Given the description of an element on the screen output the (x, y) to click on. 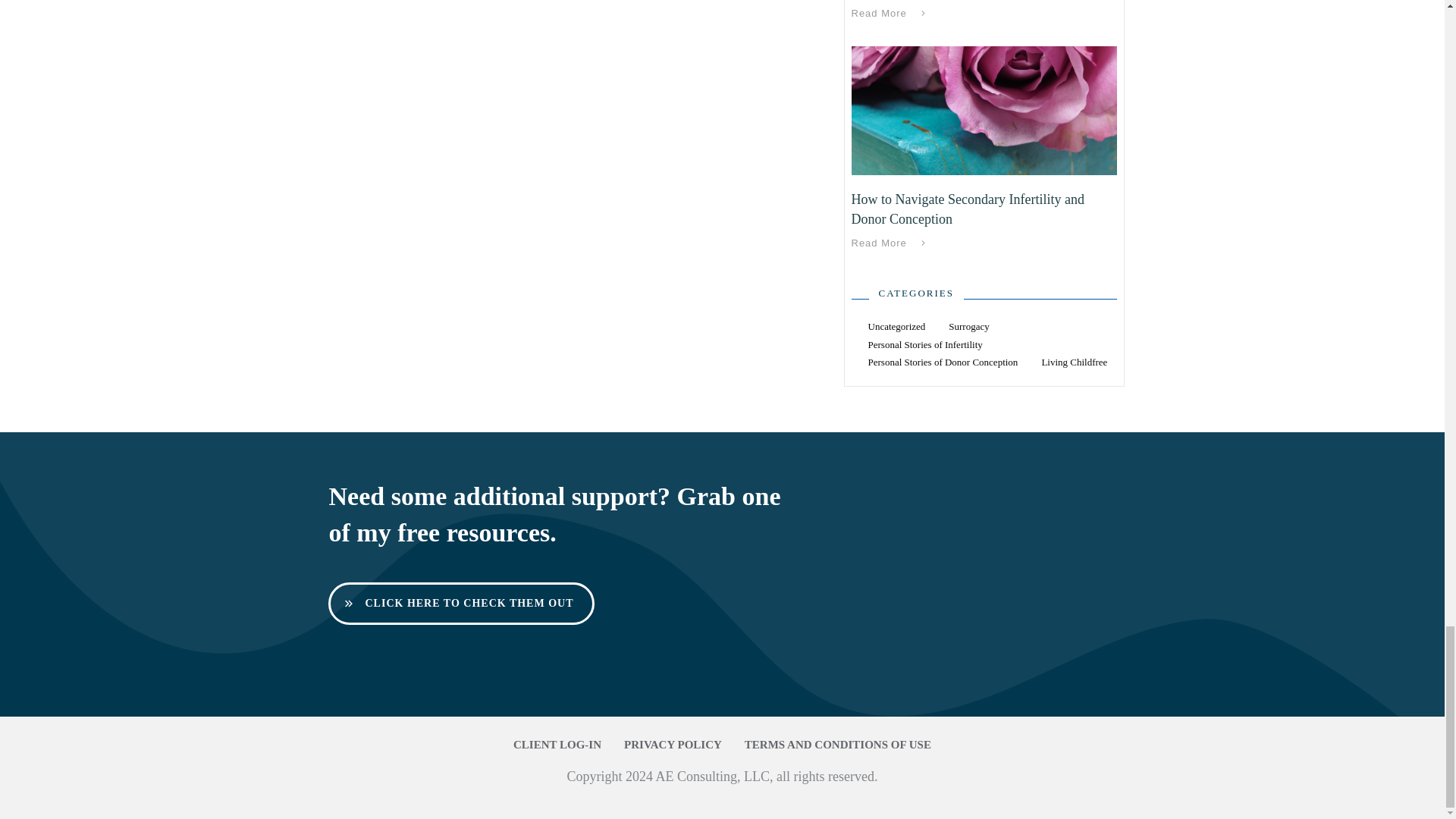
Read More (890, 242)
Uncategorized (895, 325)
How to Navigate Secondary Infertility and Donor Conception (966, 208)
Read More (890, 13)
How to Navigate Secondary Infertility and Donor Conception (966, 208)
